Given the description of an element on the screen output the (x, y) to click on. 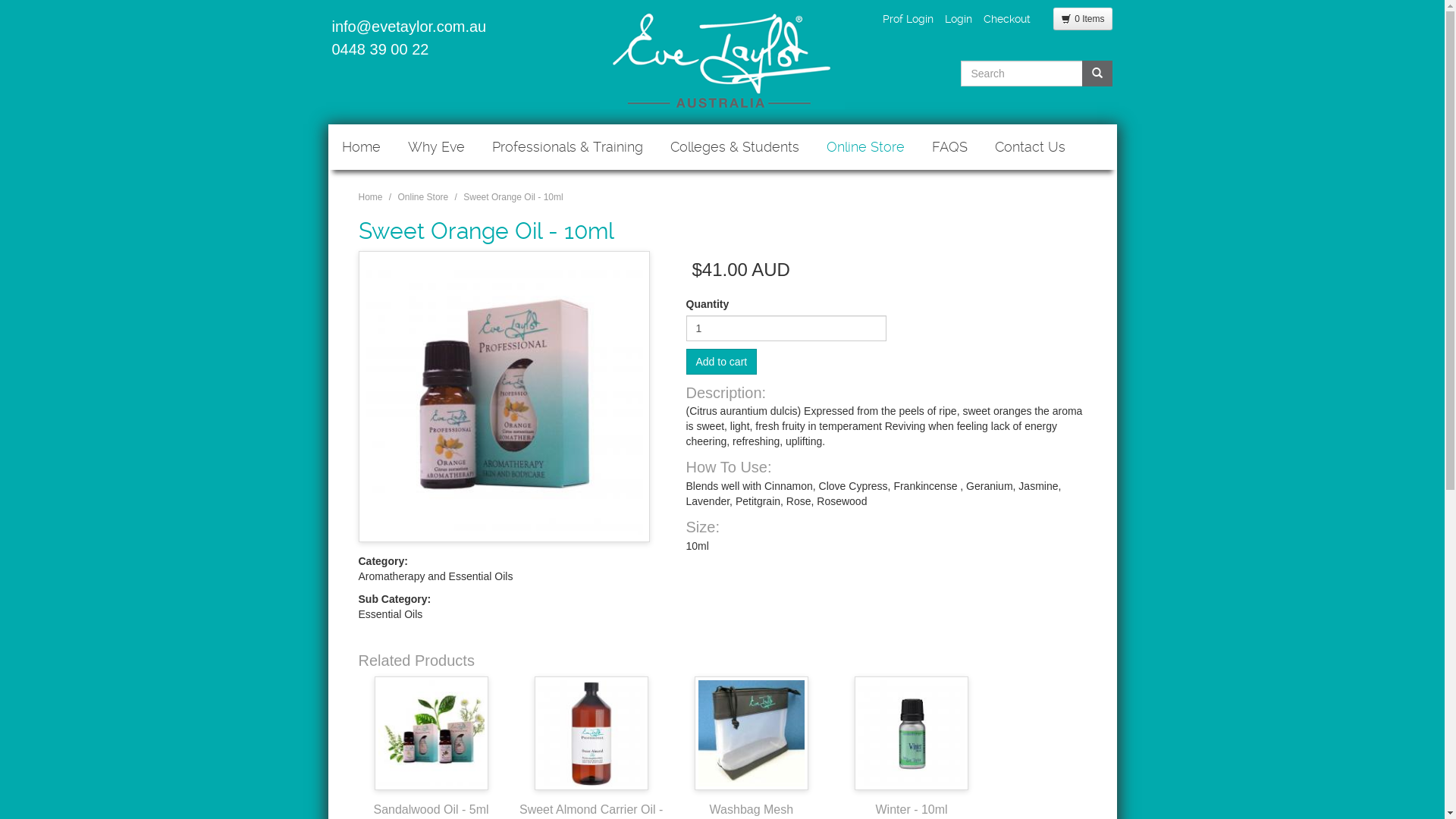
Contact Us Element type: text (1030, 146)
Checkout Element type: text (1006, 18)
Why Eve Element type: text (436, 146)
Sweet Orange Oil - 10ml Element type: hover (503, 396)
Search Element type: text (1112, 86)
FAQS Element type: text (948, 146)
Washbag Mesh Element type: hover (751, 733)
Colleges & Students Element type: text (734, 146)
Home Element type: text (369, 196)
Professionals & Training Element type: text (566, 146)
Home Element type: hover (721, 57)
Online Store Element type: text (423, 196)
0 Items Element type: text (1082, 18)
Winter - 10ml Element type: hover (911, 733)
Enter the terms you wish to search for. Element type: hover (1021, 73)
Sweet Almond Carrier Oil - 100ml Element type: hover (591, 733)
0448 39 00 22 Element type: text (380, 48)
Sandalwood Oil - 5ml Element type: hover (431, 733)
Login Element type: text (958, 18)
Skip to main content Element type: text (0, 0)
Add to cart Element type: text (720, 361)
Prof Login Element type: text (907, 18)
Online Store Element type: text (865, 146)
Home Element type: text (360, 146)
info@evetaylor.com.au Element type: text (409, 26)
